Given the description of an element on the screen output the (x, y) to click on. 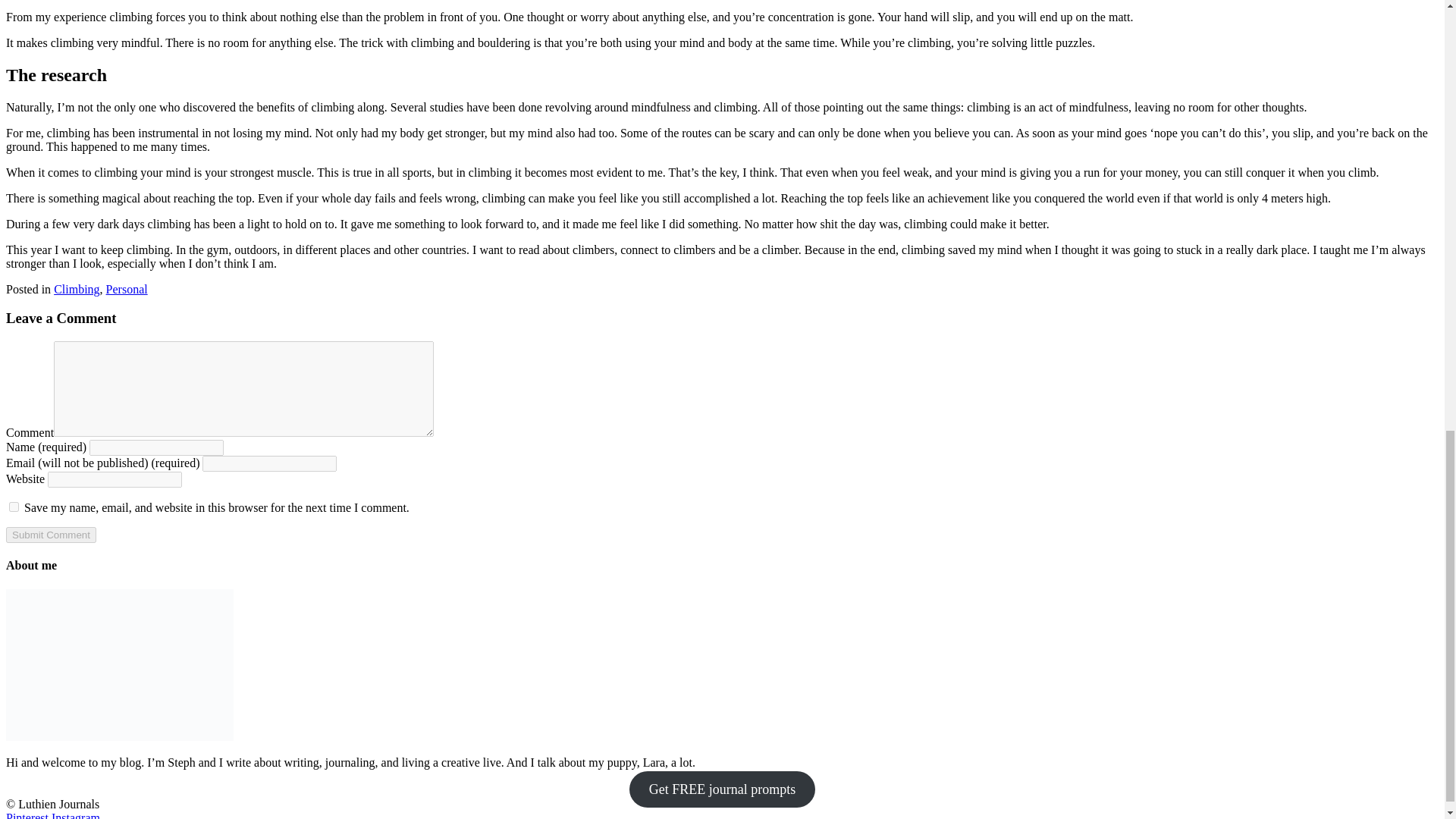
Submit Comment (50, 534)
About me (118, 664)
Personal (127, 288)
Climbing (76, 288)
Get FREE journal prompts (721, 789)
yes (13, 506)
Submit Comment (50, 534)
